Given the description of an element on the screen output the (x, y) to click on. 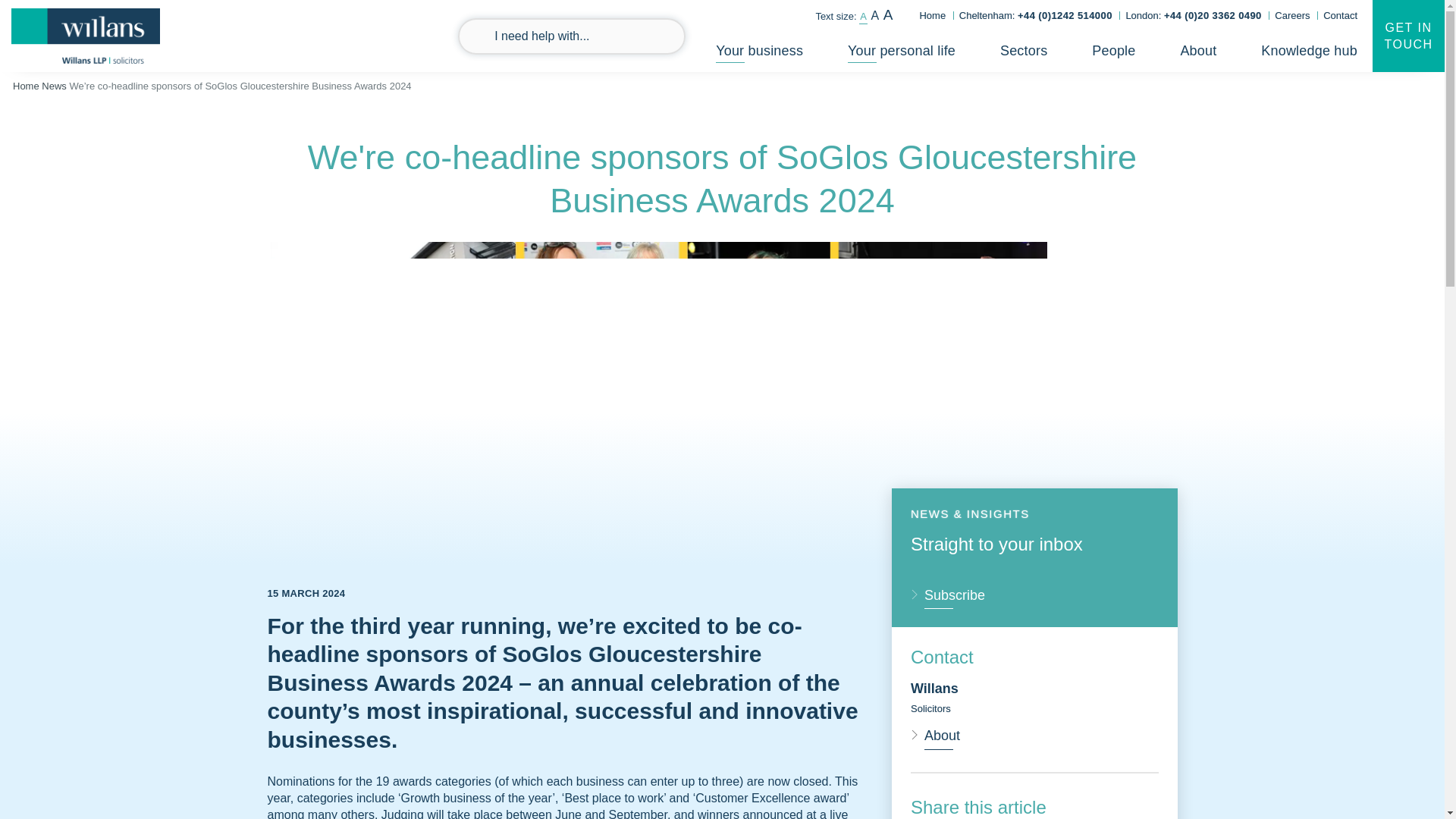
Knowledge hub (1308, 53)
Your personal life (901, 53)
Willans LLP (85, 36)
GET IN TOUCH (1408, 36)
Home (931, 15)
Willans Cheltenham (1035, 15)
Contact (1339, 15)
Contact (1339, 15)
People (1113, 53)
Careers (1291, 15)
